Given the description of an element on the screen output the (x, y) to click on. 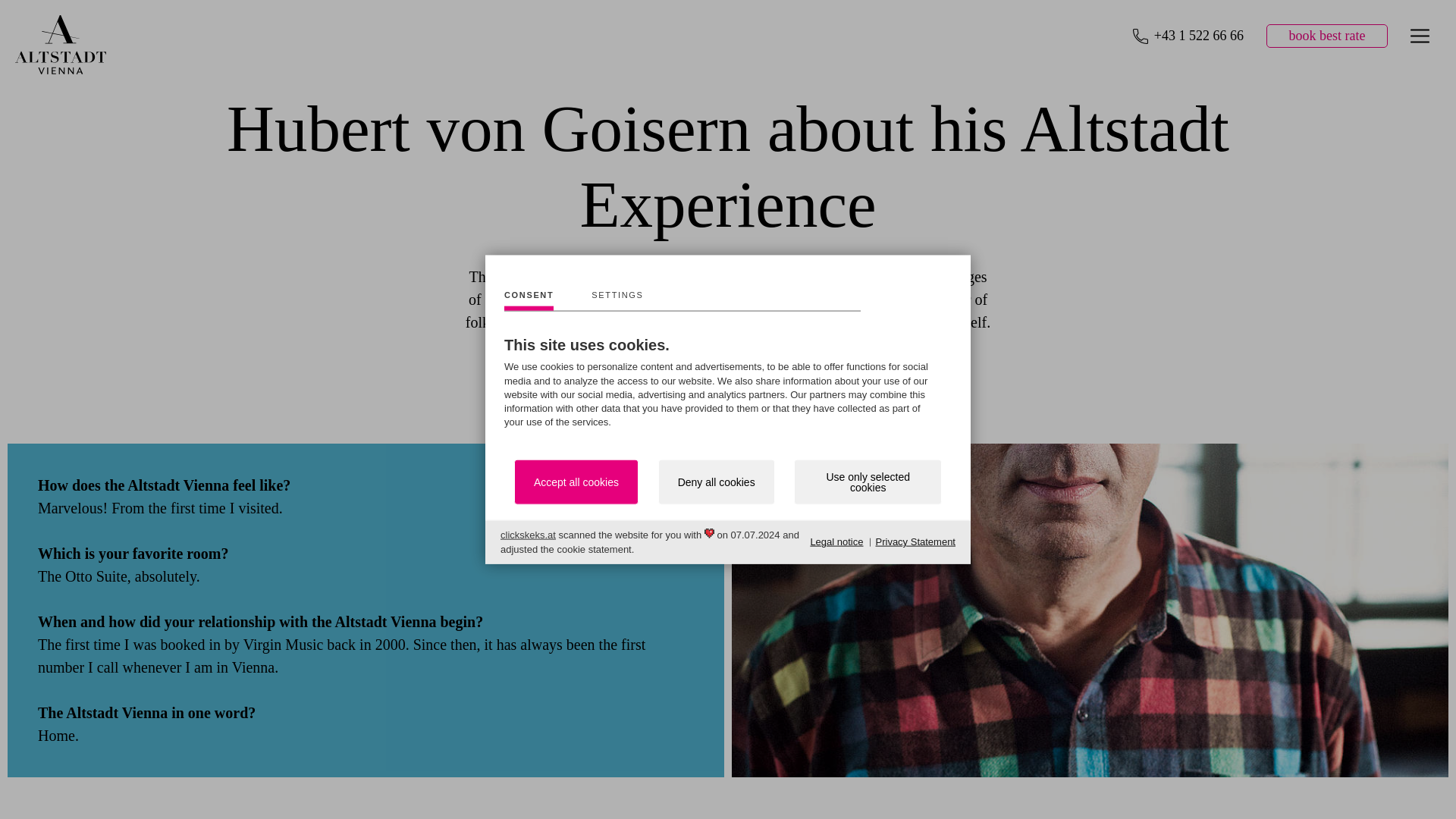
Altstadt Vienna (60, 68)
book best rate (1326, 35)
Altstadt Vienna - Call Us (1187, 35)
Altstadt Vienna - Book now (1326, 35)
